Given the description of an element on the screen output the (x, y) to click on. 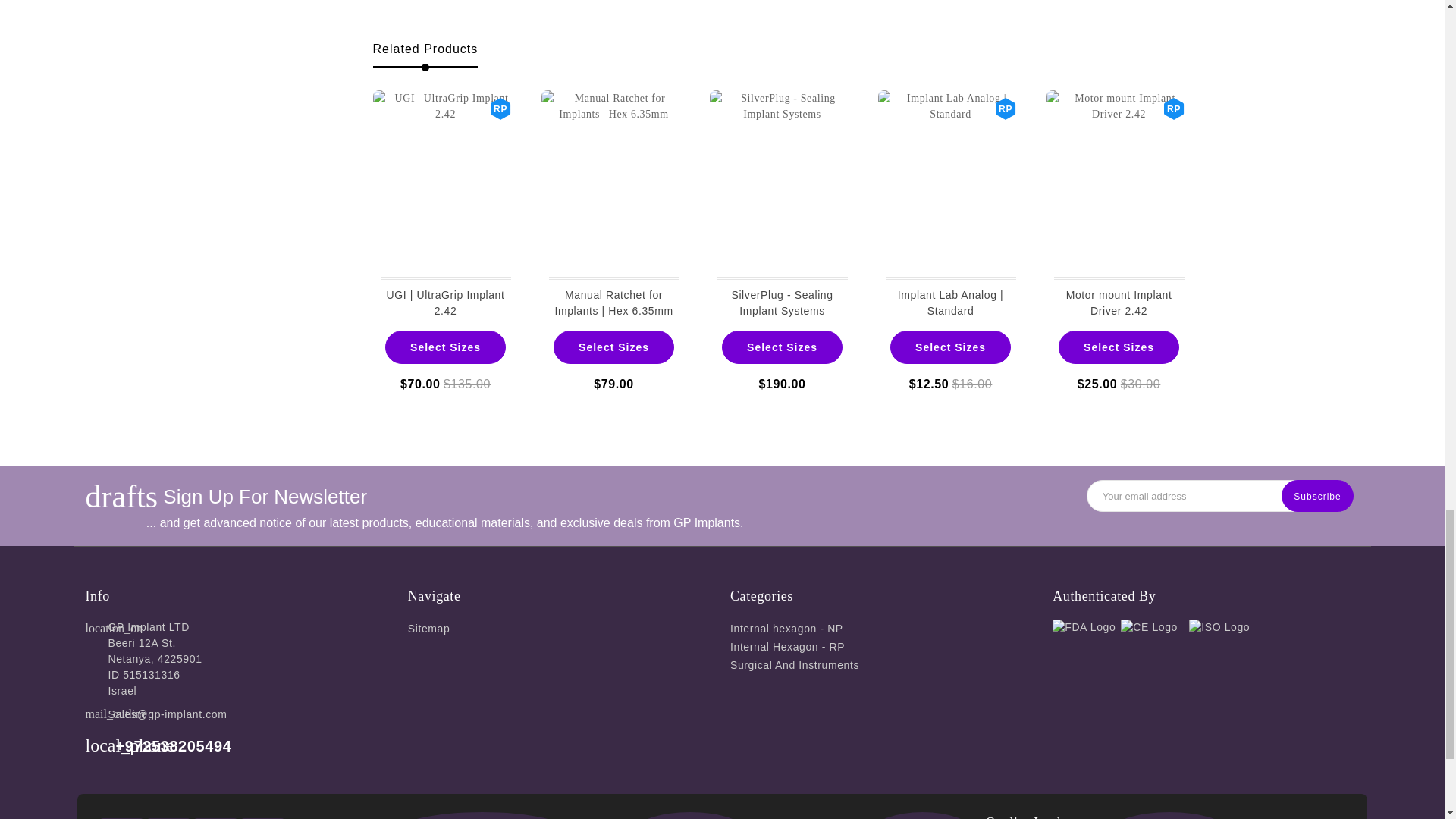
Subscribe (1316, 495)
